Given the description of an element on the screen output the (x, y) to click on. 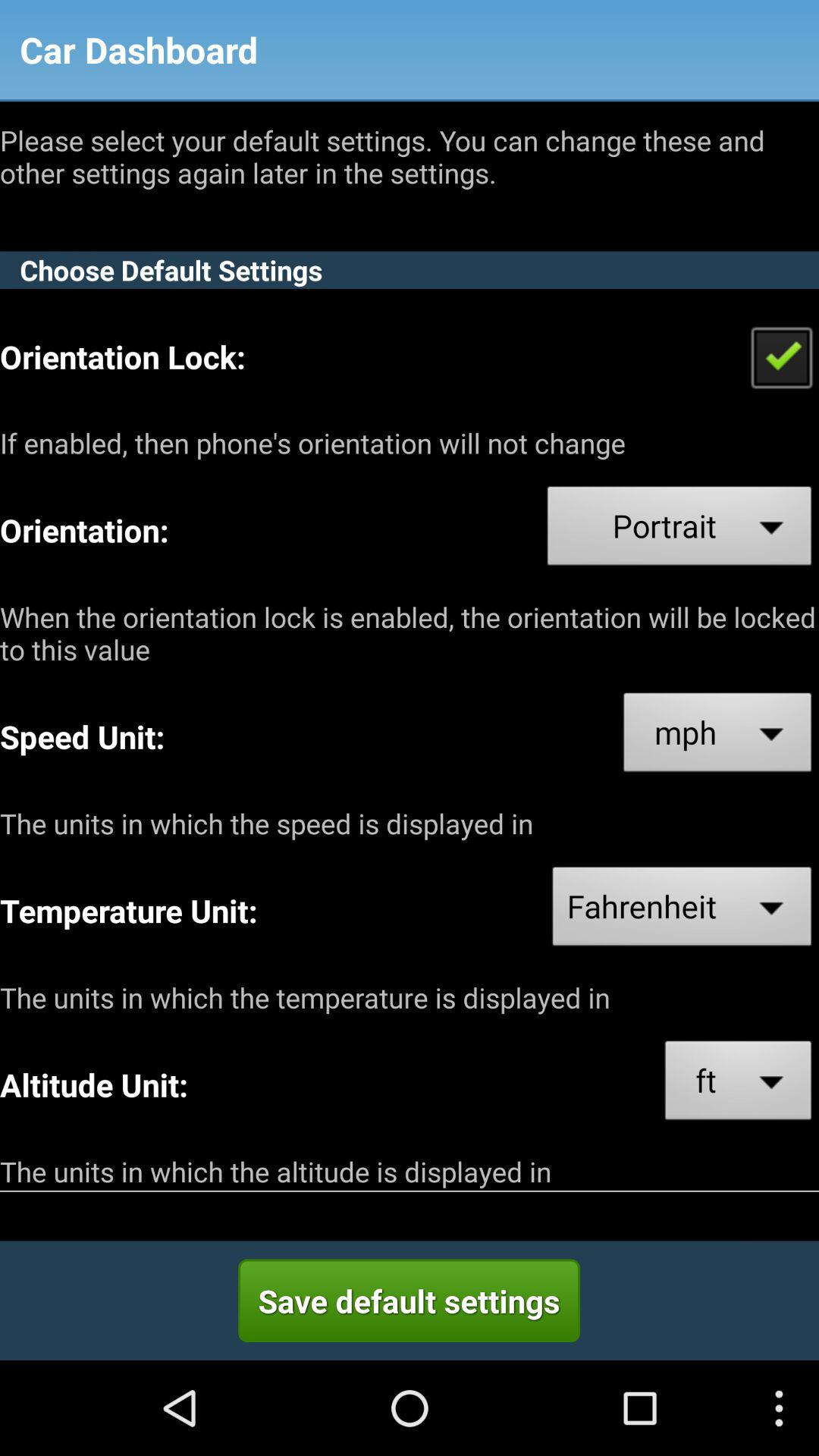
orentation lock check box (781, 356)
